Given the description of an element on the screen output the (x, y) to click on. 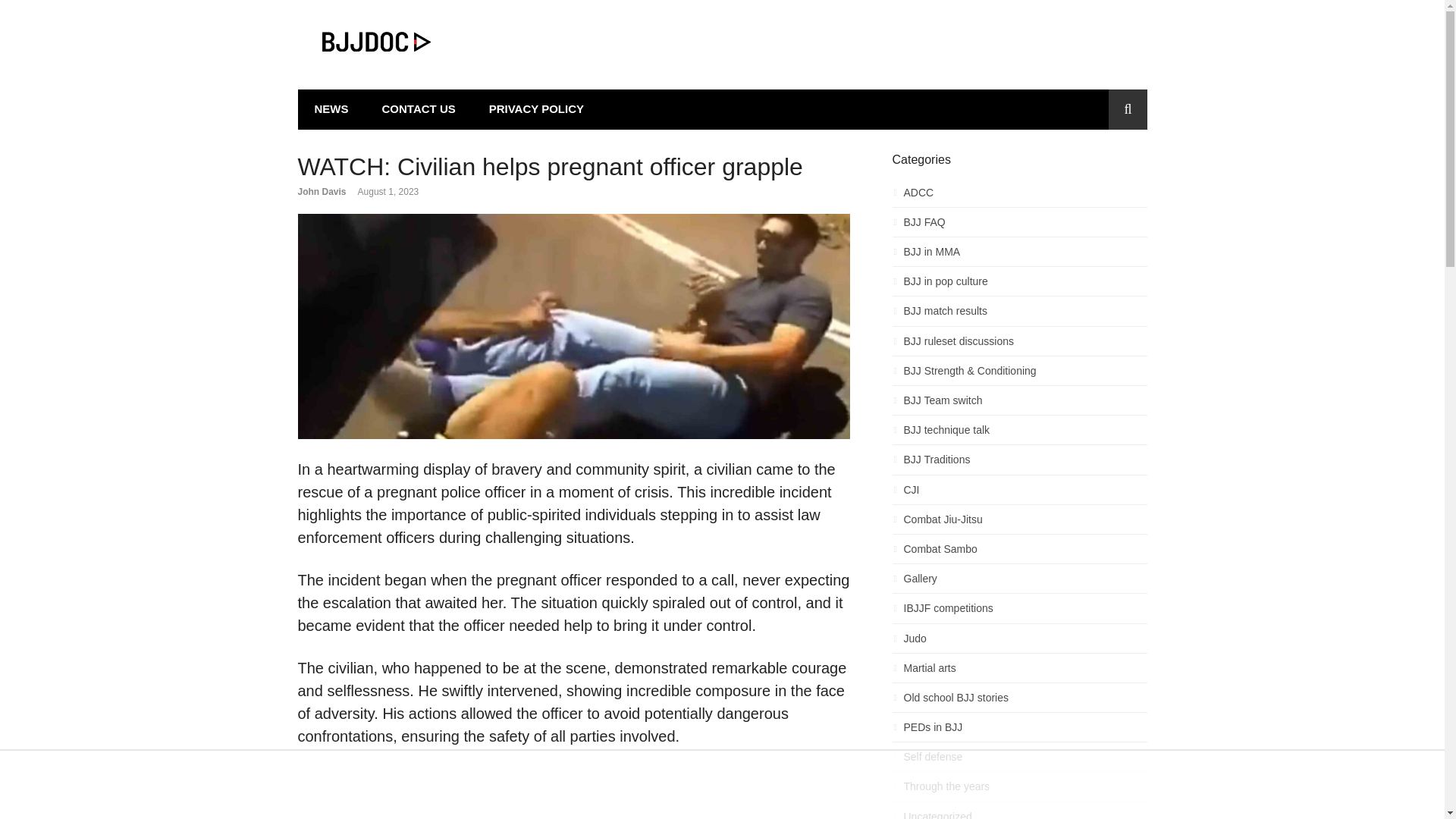
Judo (1019, 641)
CONTACT US (418, 109)
ADCC (1019, 196)
BJJ FAQ (1019, 226)
BJJ in MMA (1019, 255)
IBJJF competitions (1019, 612)
Combat Jiu-Jitsu (1019, 523)
BJJ technique talk (1019, 434)
PRIVACY POLICY (535, 109)
BJJ Traditions (1019, 463)
